Given the description of an element on the screen output the (x, y) to click on. 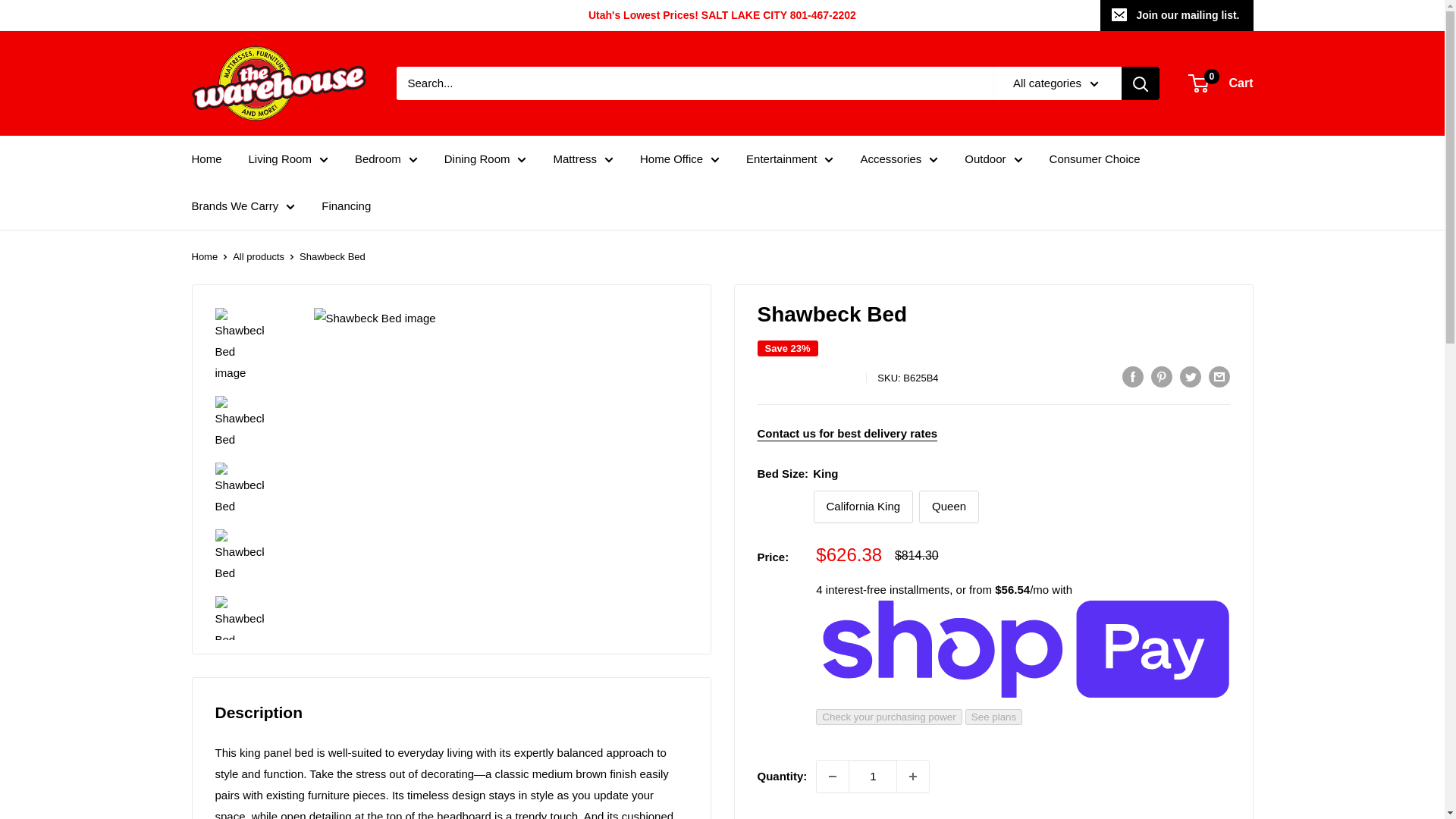
California King (863, 506)
Contact Us (847, 432)
Decrease quantity by 1 (832, 776)
Join our mailing list. (1176, 15)
Queen (948, 506)
1 (872, 776)
King (782, 506)
Increase quantity by 1 (912, 776)
